Given the description of an element on the screen output the (x, y) to click on. 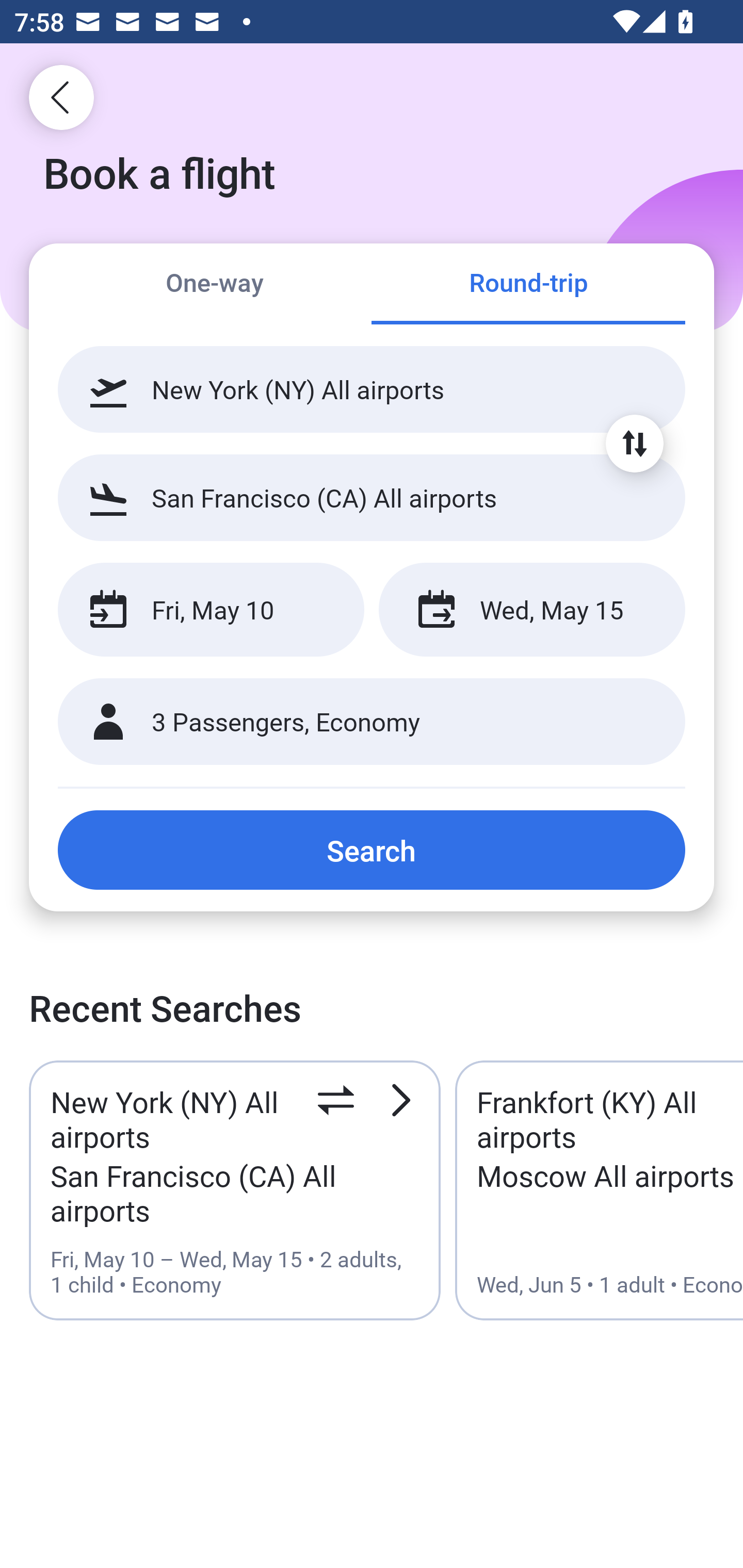
One-way (214, 284)
New York (NY) All airports (371, 389)
San Francisco (CA) All airports (371, 497)
Fri, May 10 (210, 609)
Wed, May 15 (531, 609)
3 Passengers, Economy (371, 721)
Search (371, 849)
